Given the description of an element on the screen output the (x, y) to click on. 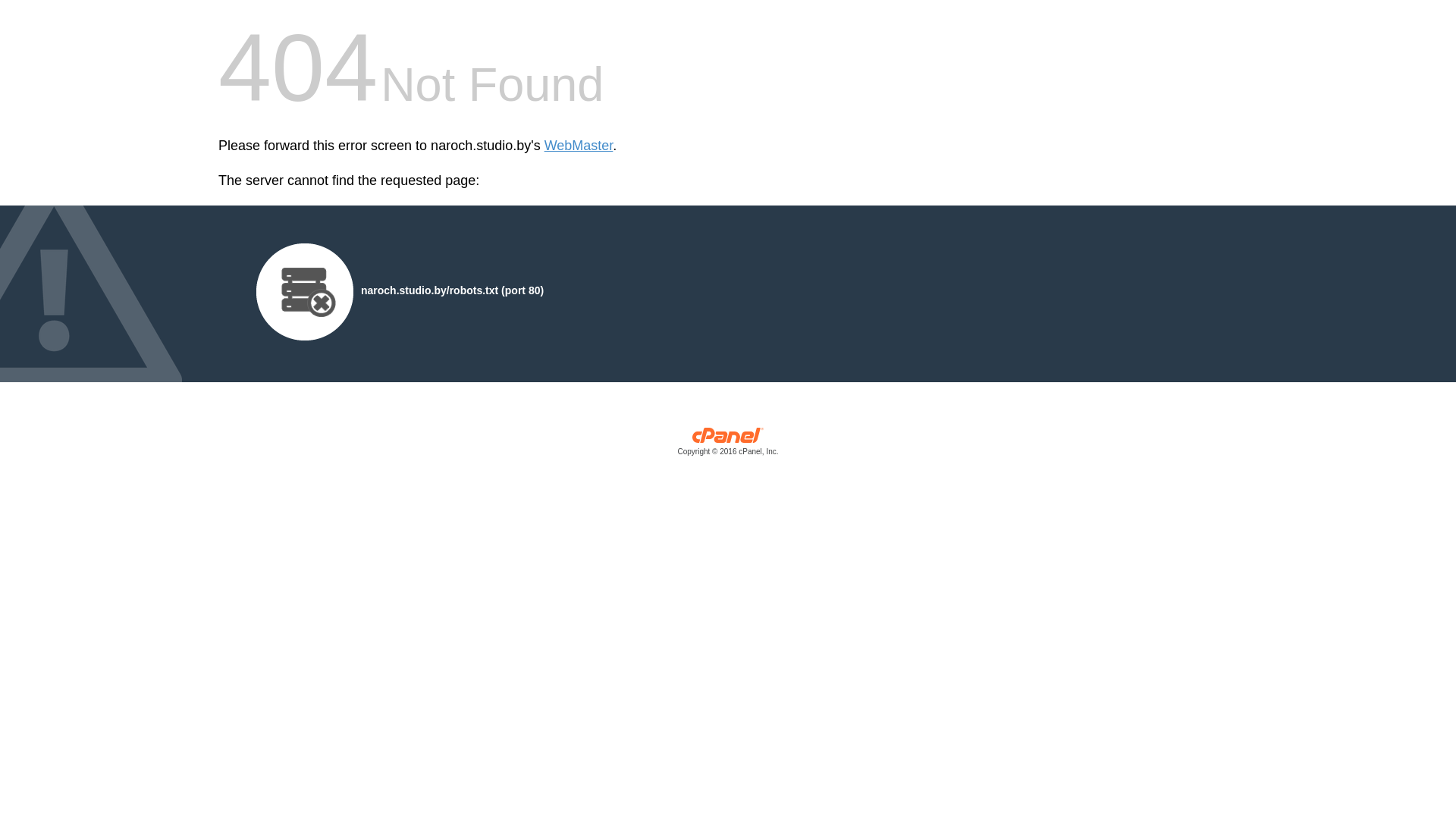
WebMaster Element type: text (578, 145)
